Given the description of an element on the screen output the (x, y) to click on. 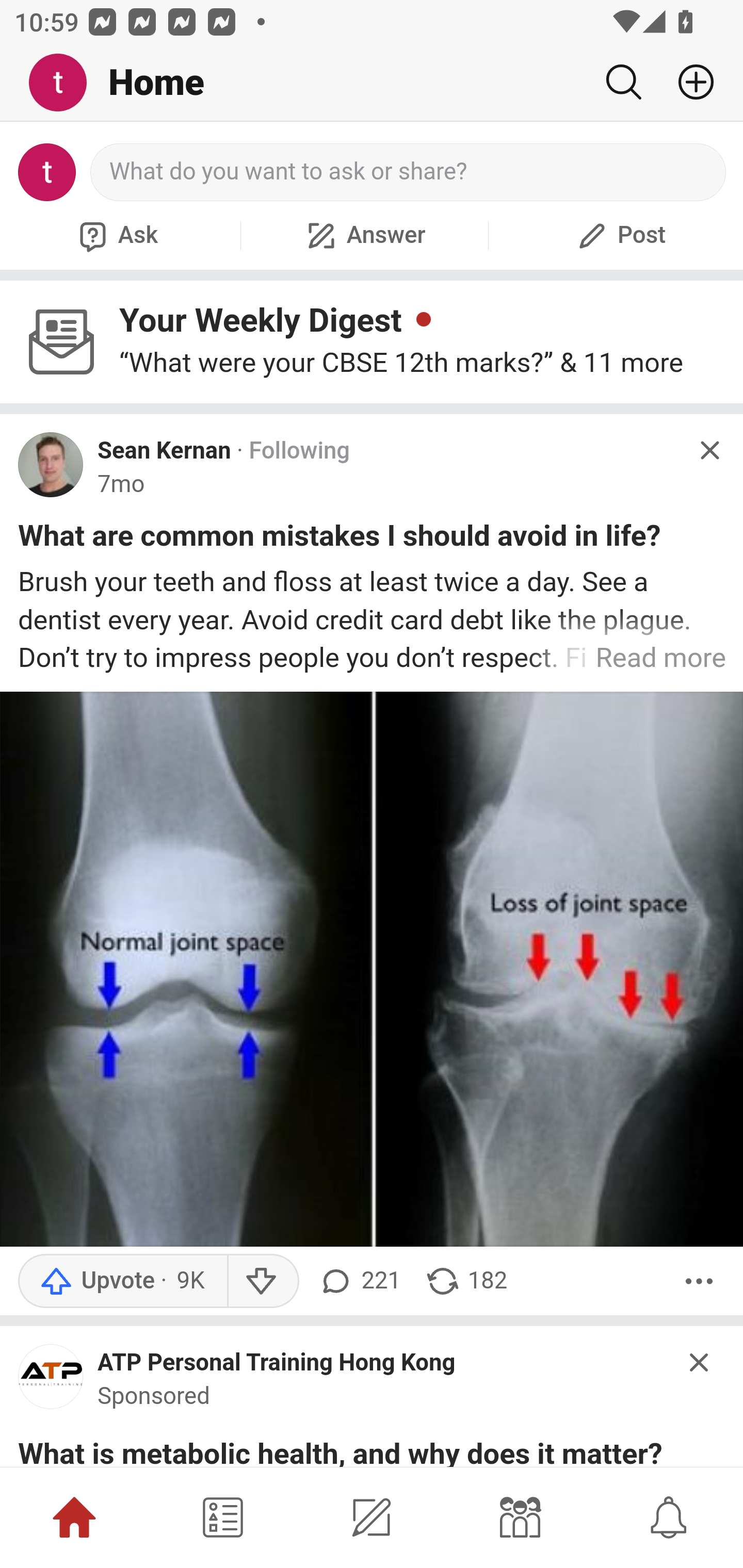
Me Home Search Add (371, 82)
Me (64, 83)
Search (623, 82)
Add (688, 82)
